Given the description of an element on the screen output the (x, y) to click on. 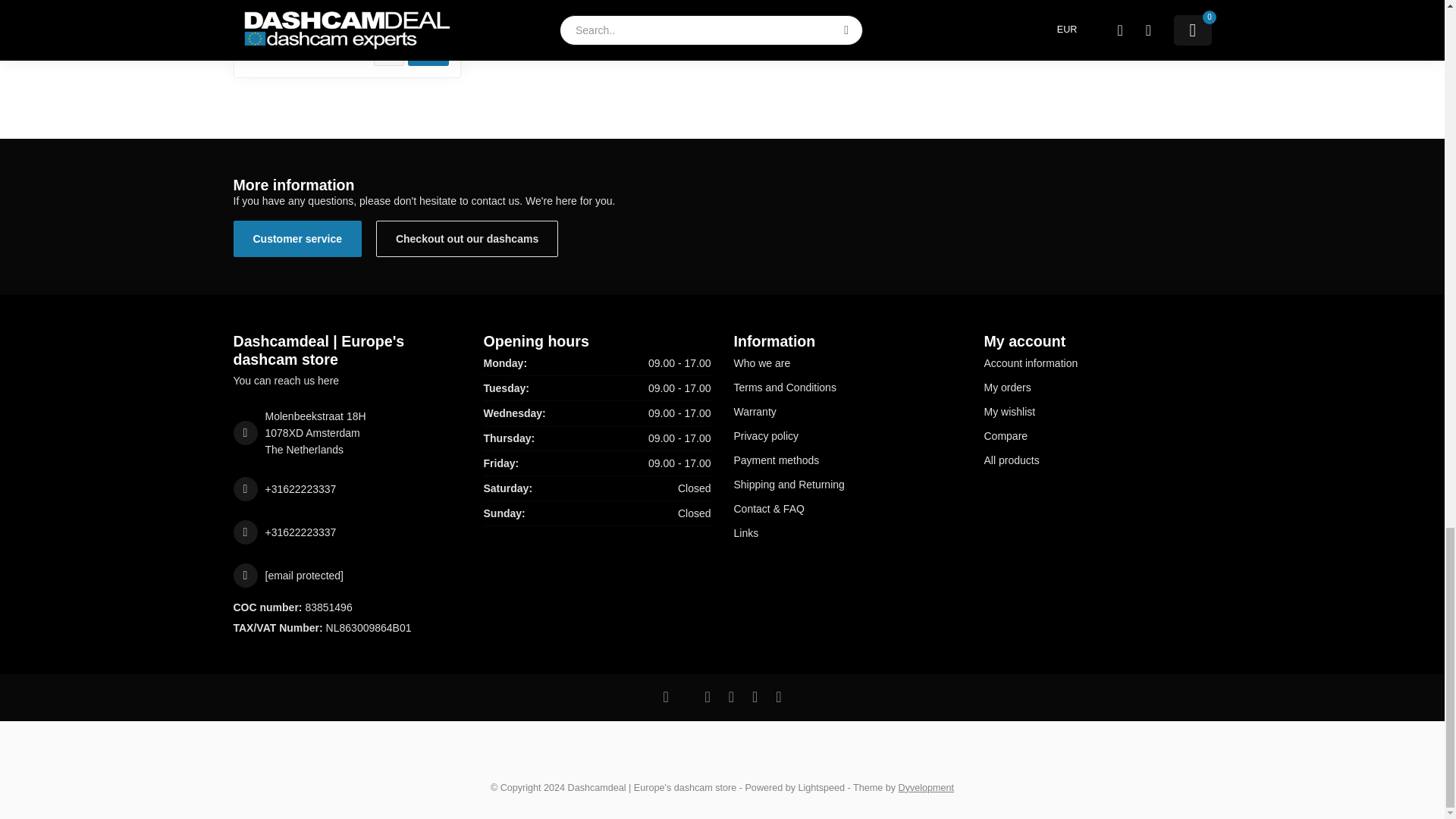
Shipping and Returning (846, 484)
Warranty (846, 411)
Payment methods (846, 459)
Compare (1097, 435)
Links (846, 532)
My wishlist (1097, 411)
My orders (1097, 387)
Terms and Conditions (846, 387)
1 (387, 51)
Privacy policy (846, 435)
Who we are (846, 363)
Account information (1097, 363)
All products (1097, 459)
